Given the description of an element on the screen output the (x, y) to click on. 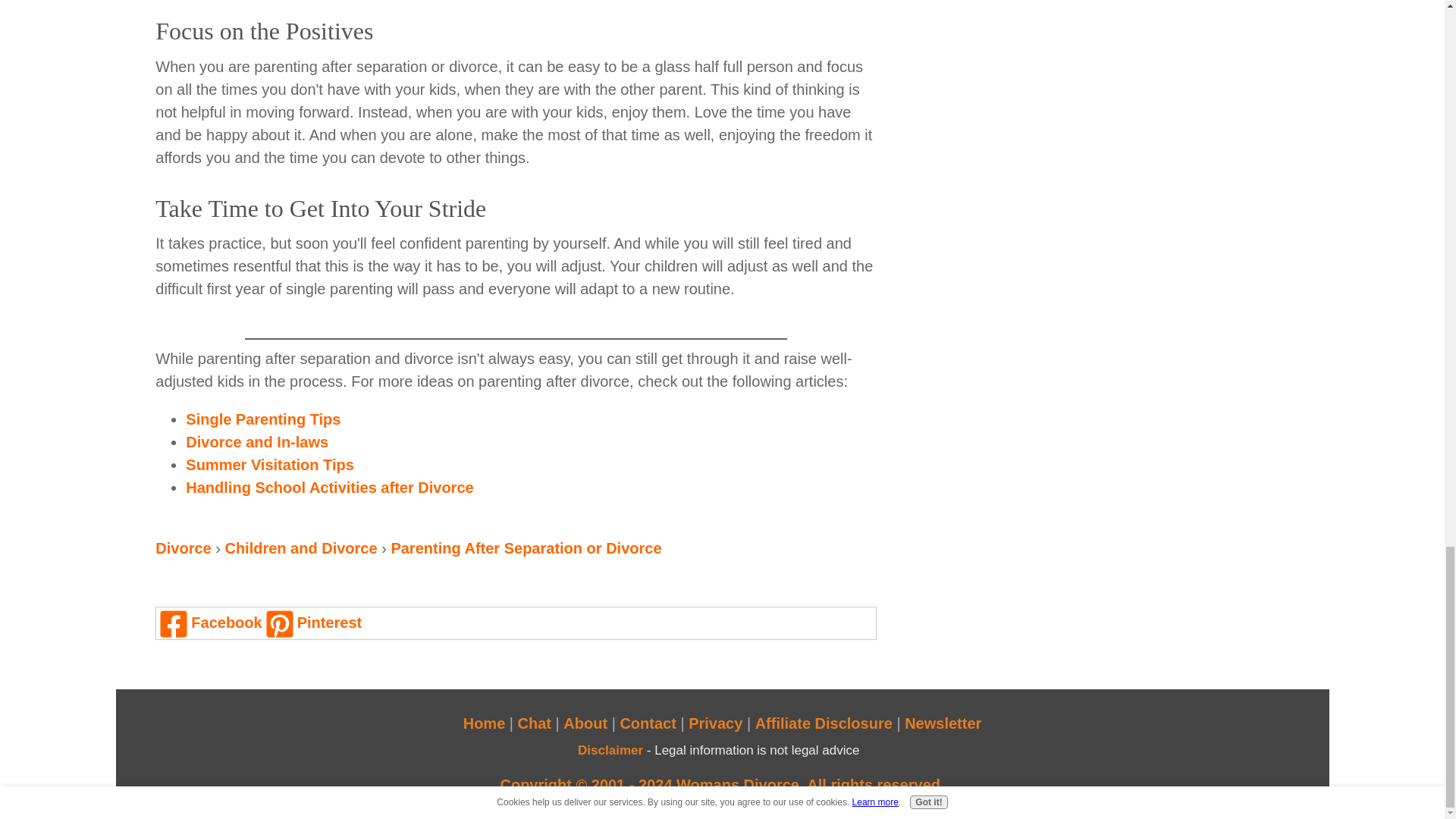
Handling School Activities after Divorce (329, 487)
Summer Visitation Tips (269, 464)
Divorce (183, 547)
Children and Divorce (300, 547)
Parenting After Separation or Divorce (525, 547)
Single Parenting Tips (263, 419)
Divorce and In-laws (257, 442)
Facebook (208, 623)
